Given the description of an element on the screen output the (x, y) to click on. 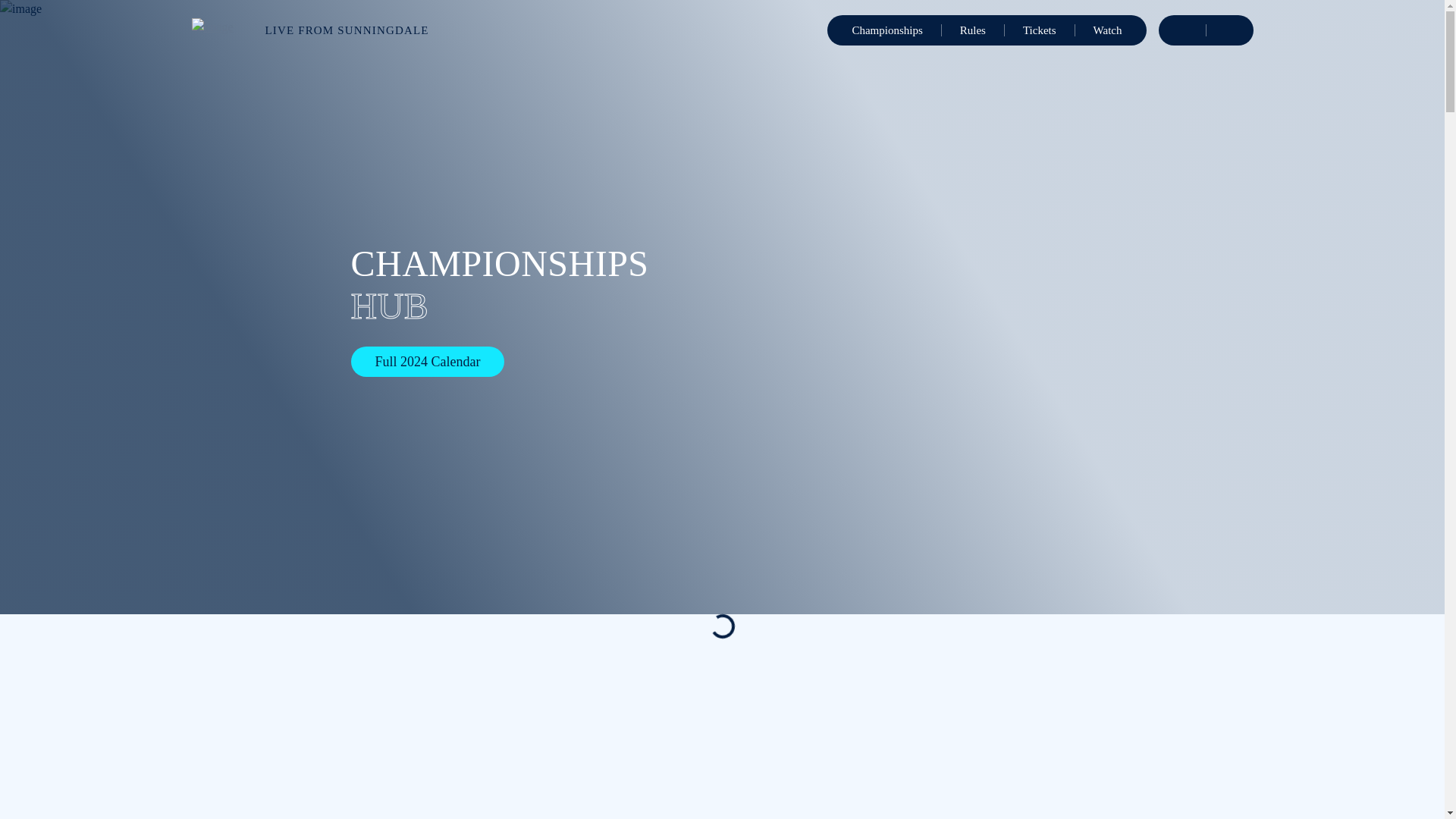
Rules (972, 30)
Tickets (1040, 30)
Championships (886, 30)
Watch (1107, 30)
Full 2024 Calendar (426, 360)
